Given the description of an element on the screen output the (x, y) to click on. 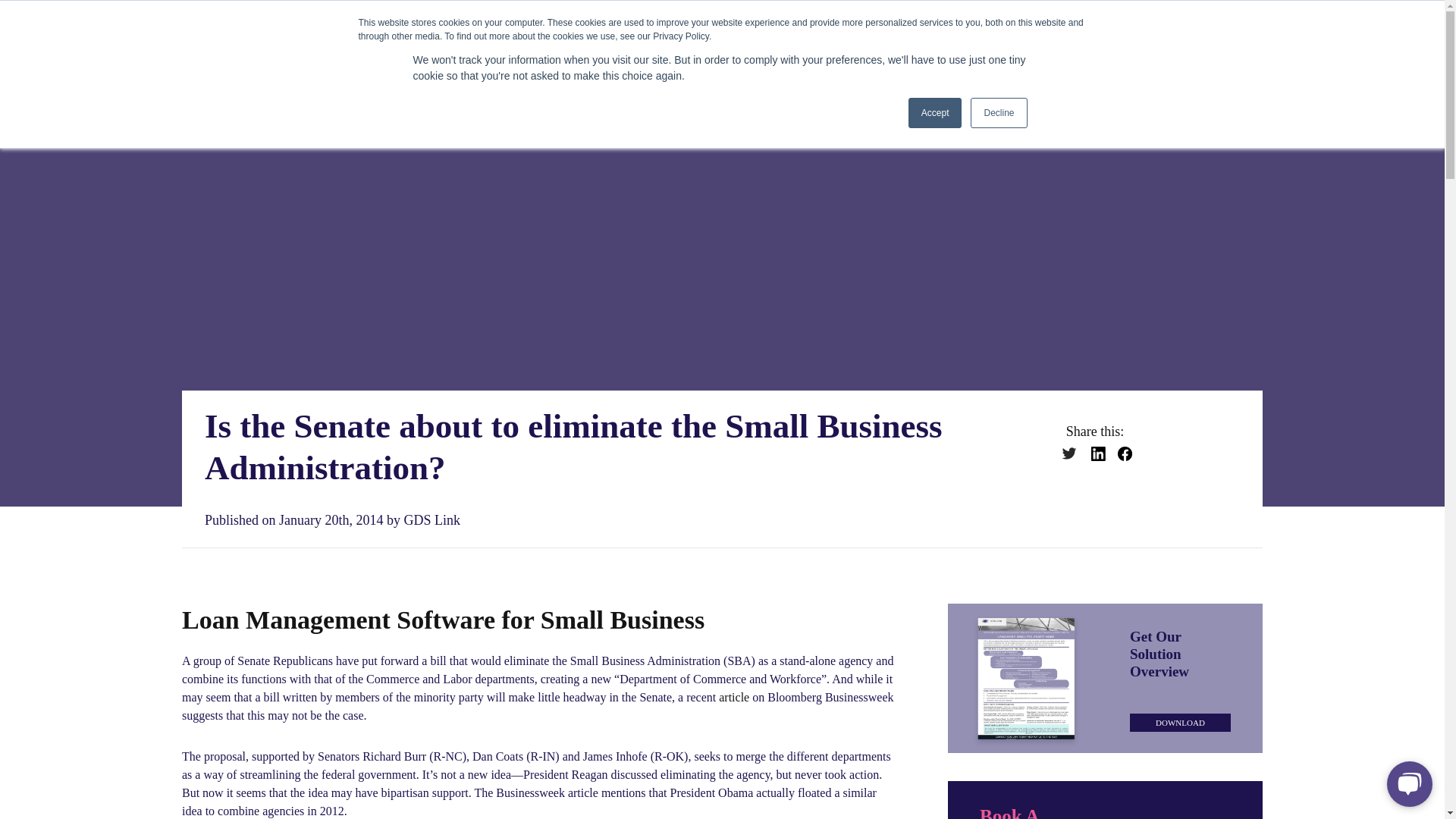
Decline (998, 112)
Accept (935, 112)
Resources (1082, 55)
Industries (977, 55)
Analytics and Services (842, 55)
Solutions (502, 55)
Company (1187, 55)
GDS Link Marketing Services (656, 55)
